Given the description of an element on the screen output the (x, y) to click on. 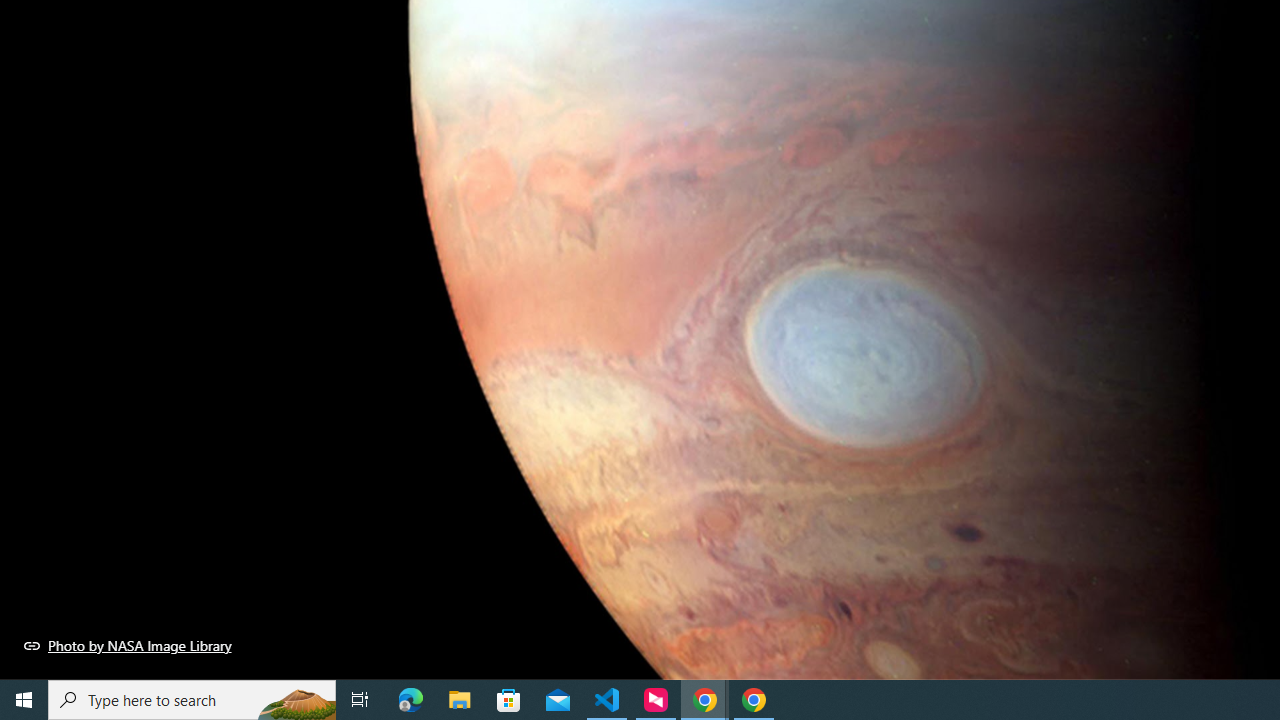
Photo by NASA Image Library (127, 645)
